Given the description of an element on the screen output the (x, y) to click on. 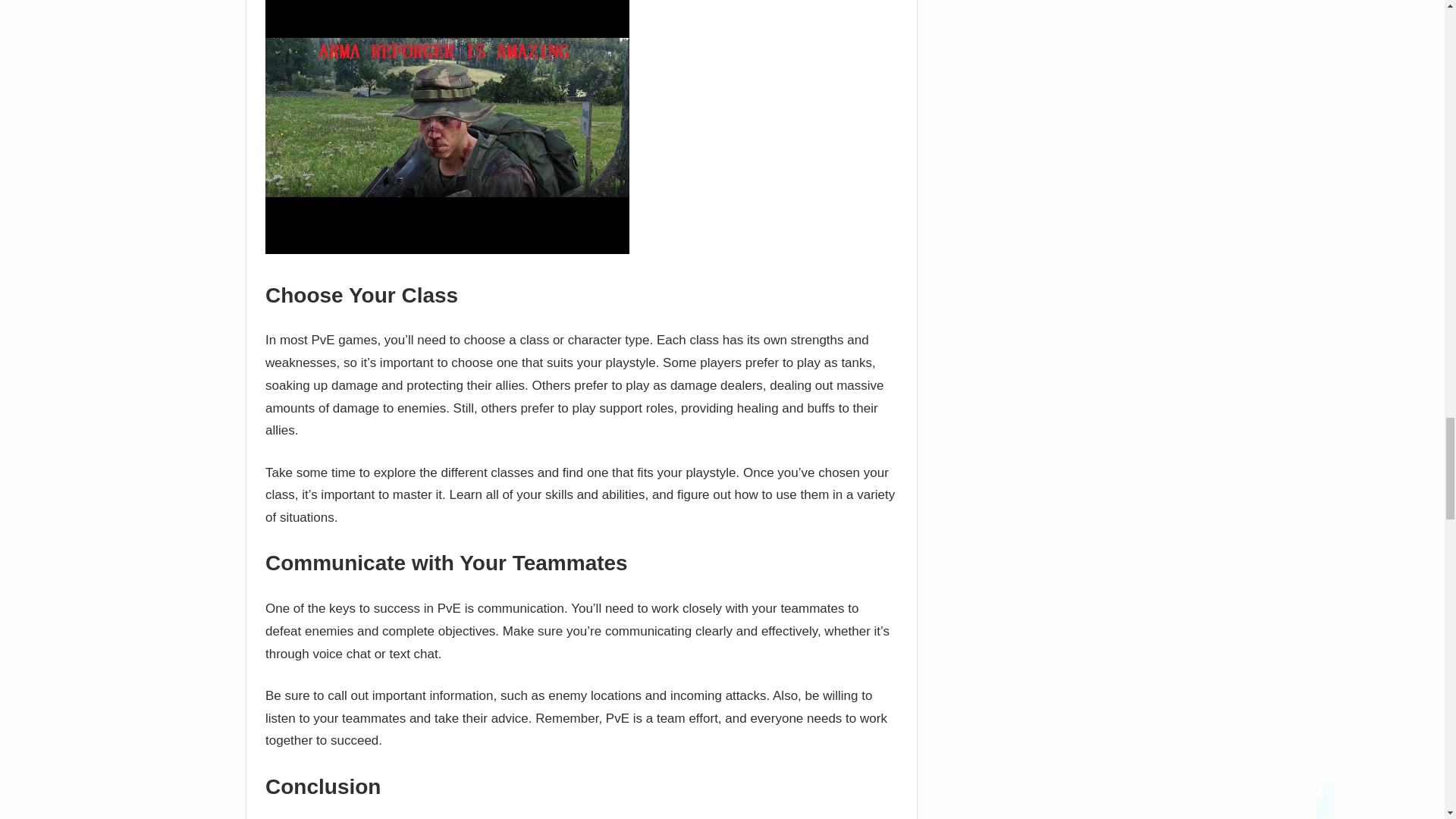
What is coop PvE? (446, 126)
